Given the description of an element on the screen output the (x, y) to click on. 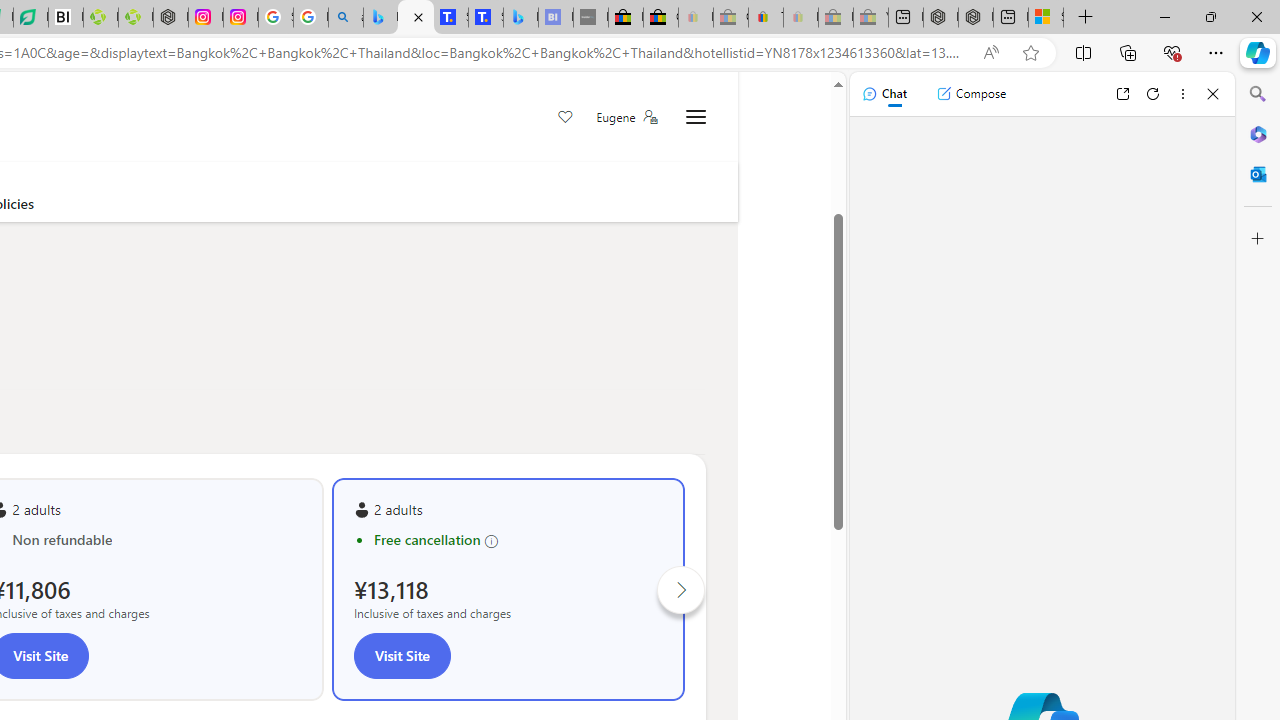
Yard, Garden & Outdoor Living - Sleeping (870, 17)
LendingTree - Compare Lenders (31, 17)
Press Room - eBay Inc. - Sleeping (835, 17)
Payments Terms of Use | eBay.com - Sleeping (800, 17)
